Given the description of an element on the screen output the (x, y) to click on. 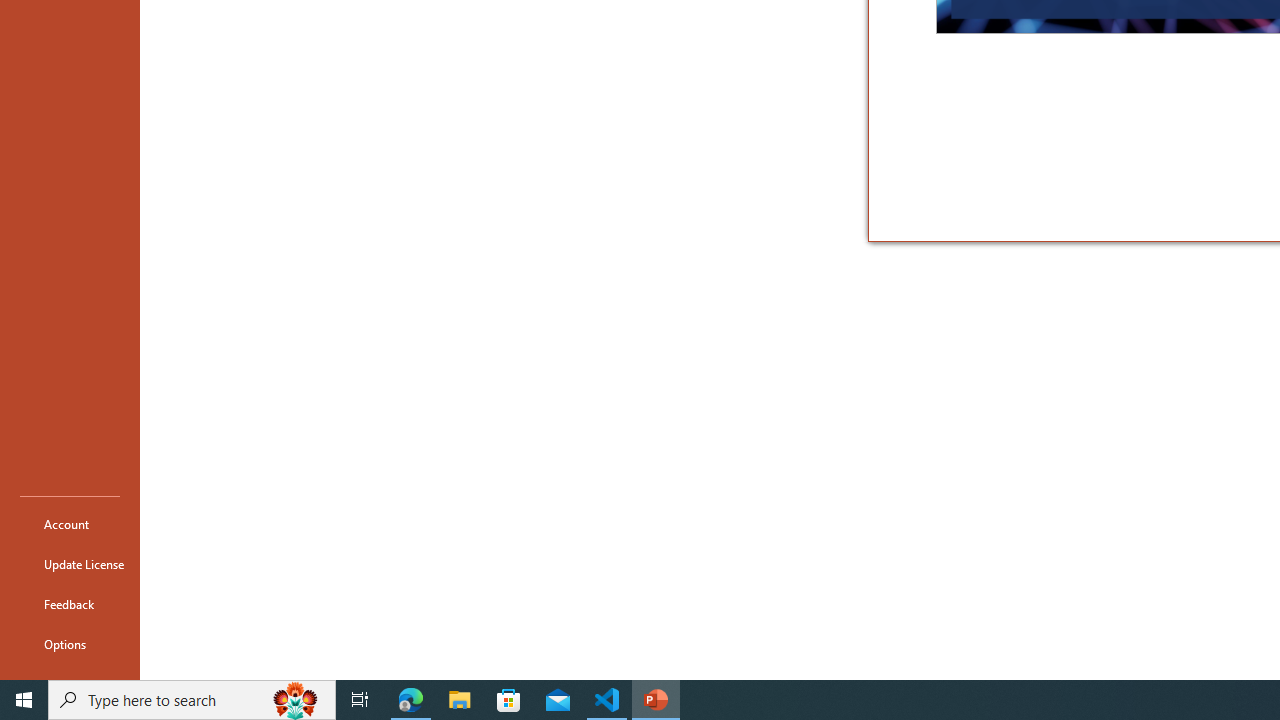
Update License (69, 563)
Options (69, 643)
Feedback (69, 603)
Account (69, 523)
